Given the description of an element on the screen output the (x, y) to click on. 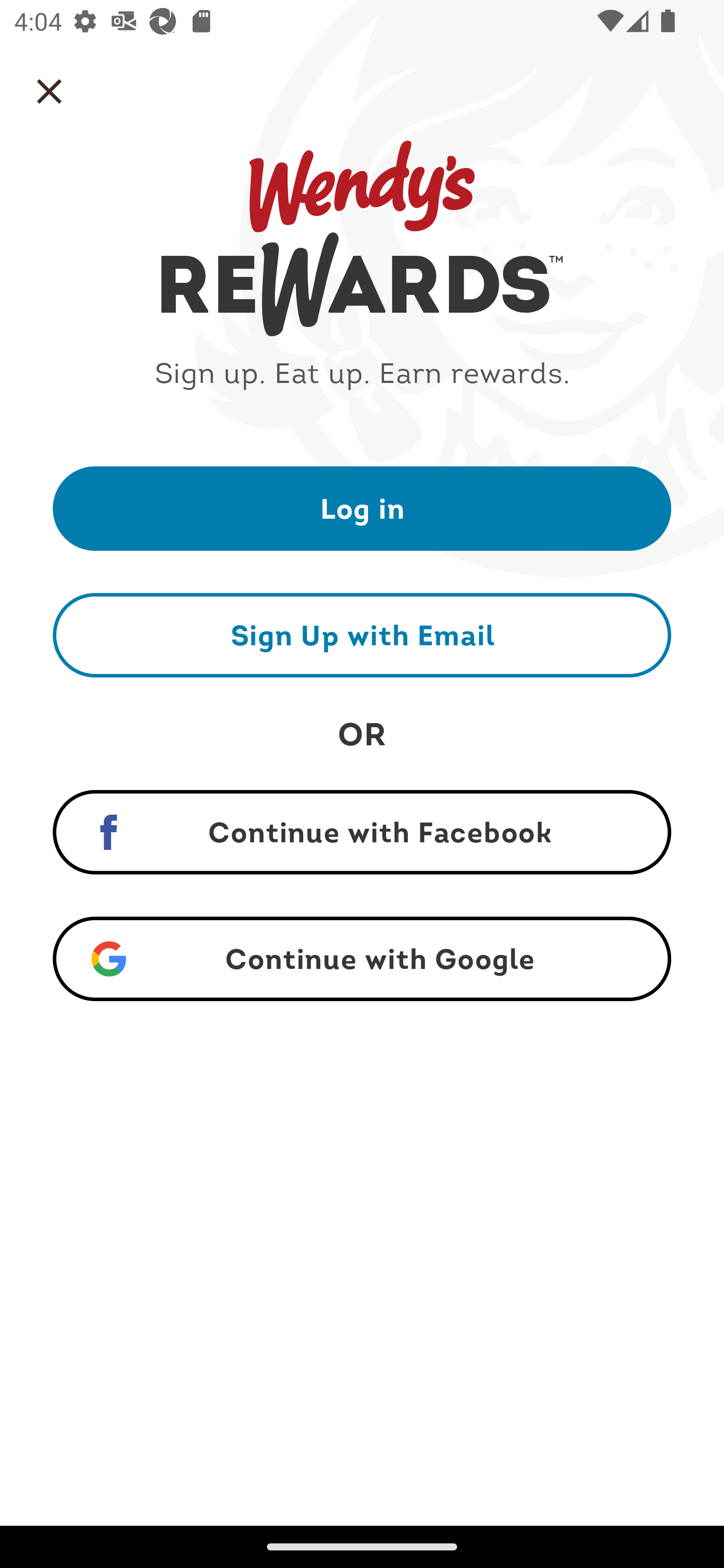
close (49, 91)
Log in (361, 507)
Sign Up with Email (361, 634)
Continue with Facebook (361, 832)
Continue with Google (361, 958)
